Given the description of an element on the screen output the (x, y) to click on. 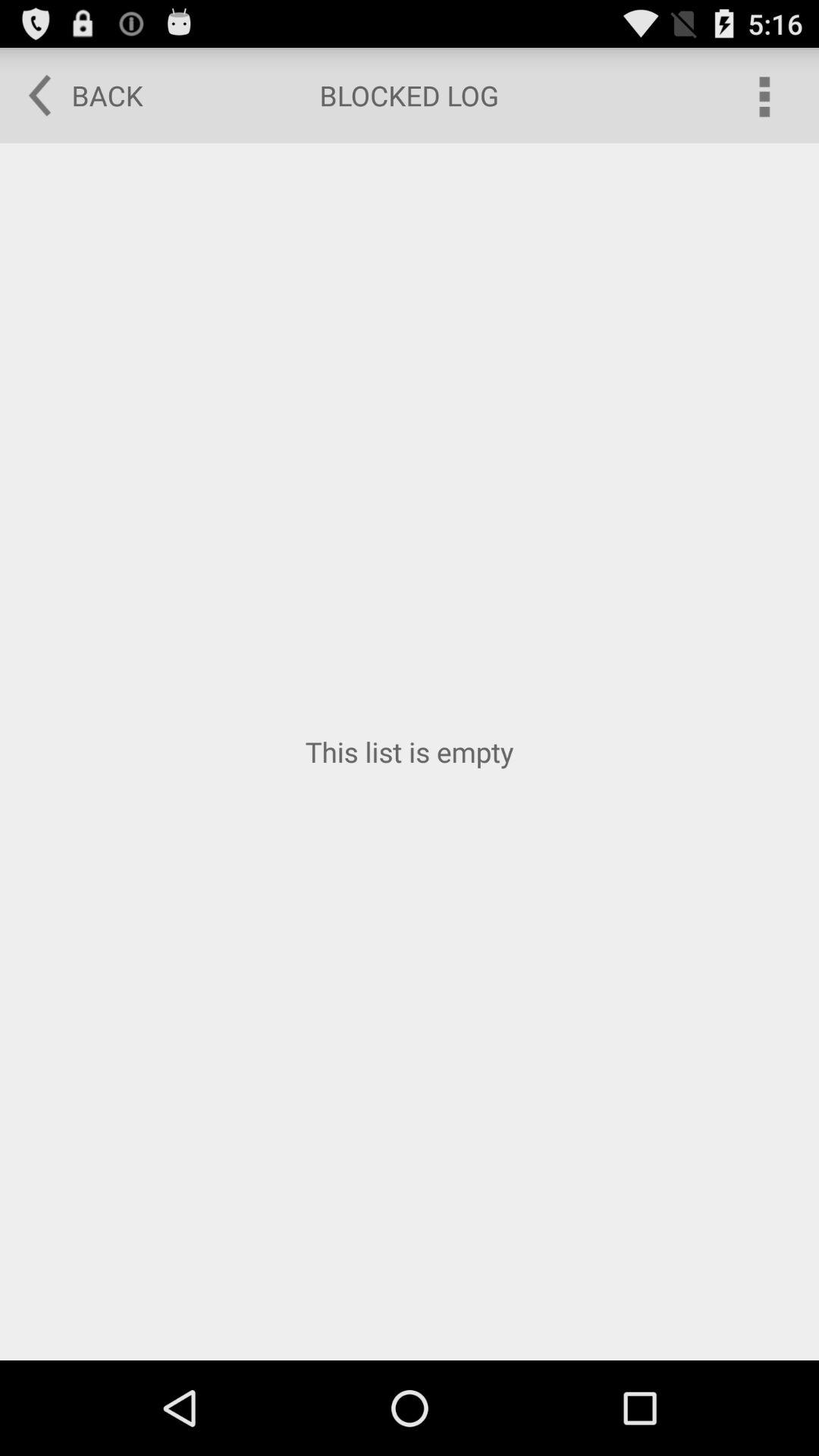
settings (763, 95)
